Given the description of an element on the screen output the (x, y) to click on. 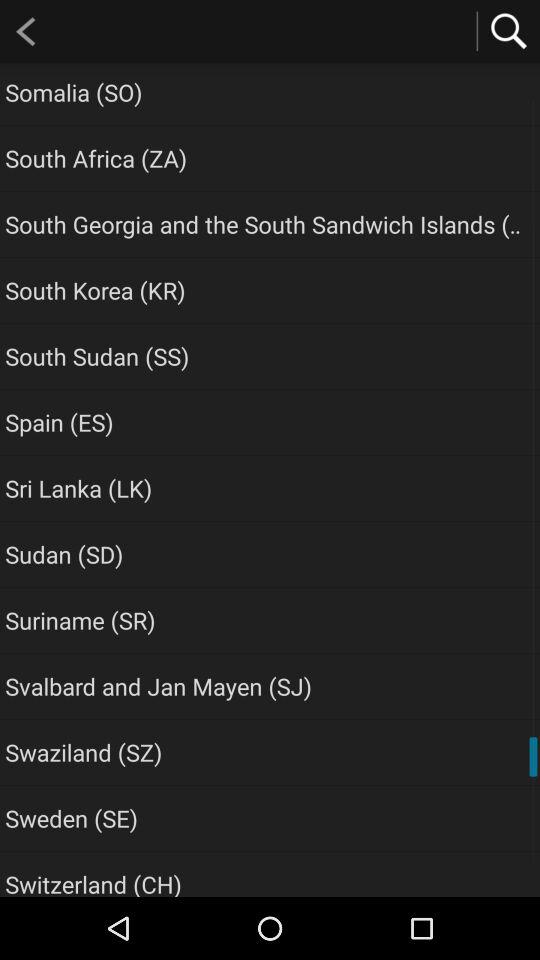
click the spain (es) app (59, 422)
